Given the description of an element on the screen output the (x, y) to click on. 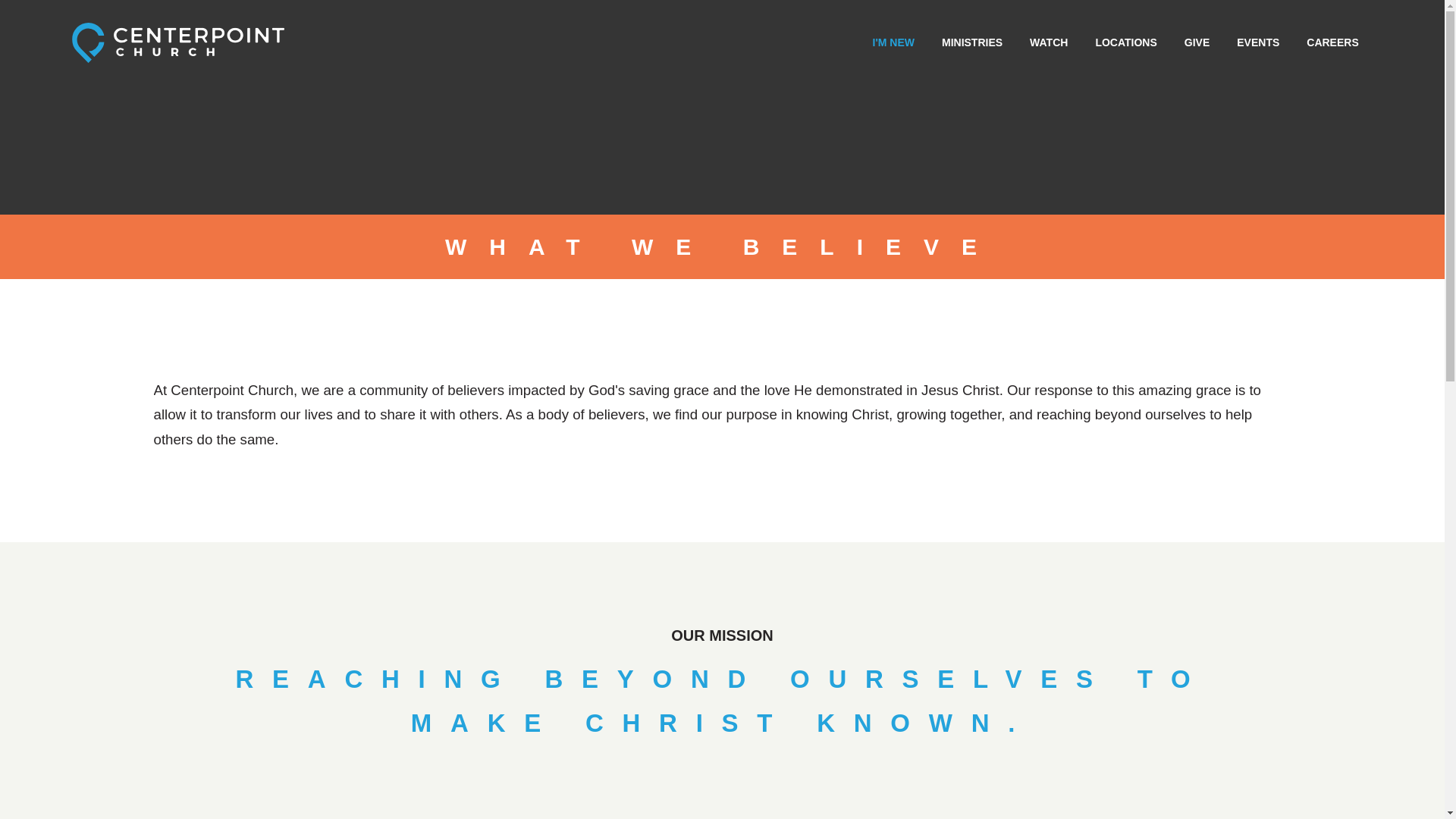
WATCH (1048, 43)
CAREERS (1331, 43)
I'M NEW (892, 43)
GIVE (1196, 43)
LOCATIONS (1125, 43)
MINISTRIES (972, 43)
EVENTS (1257, 43)
